Given the description of an element on the screen output the (x, y) to click on. 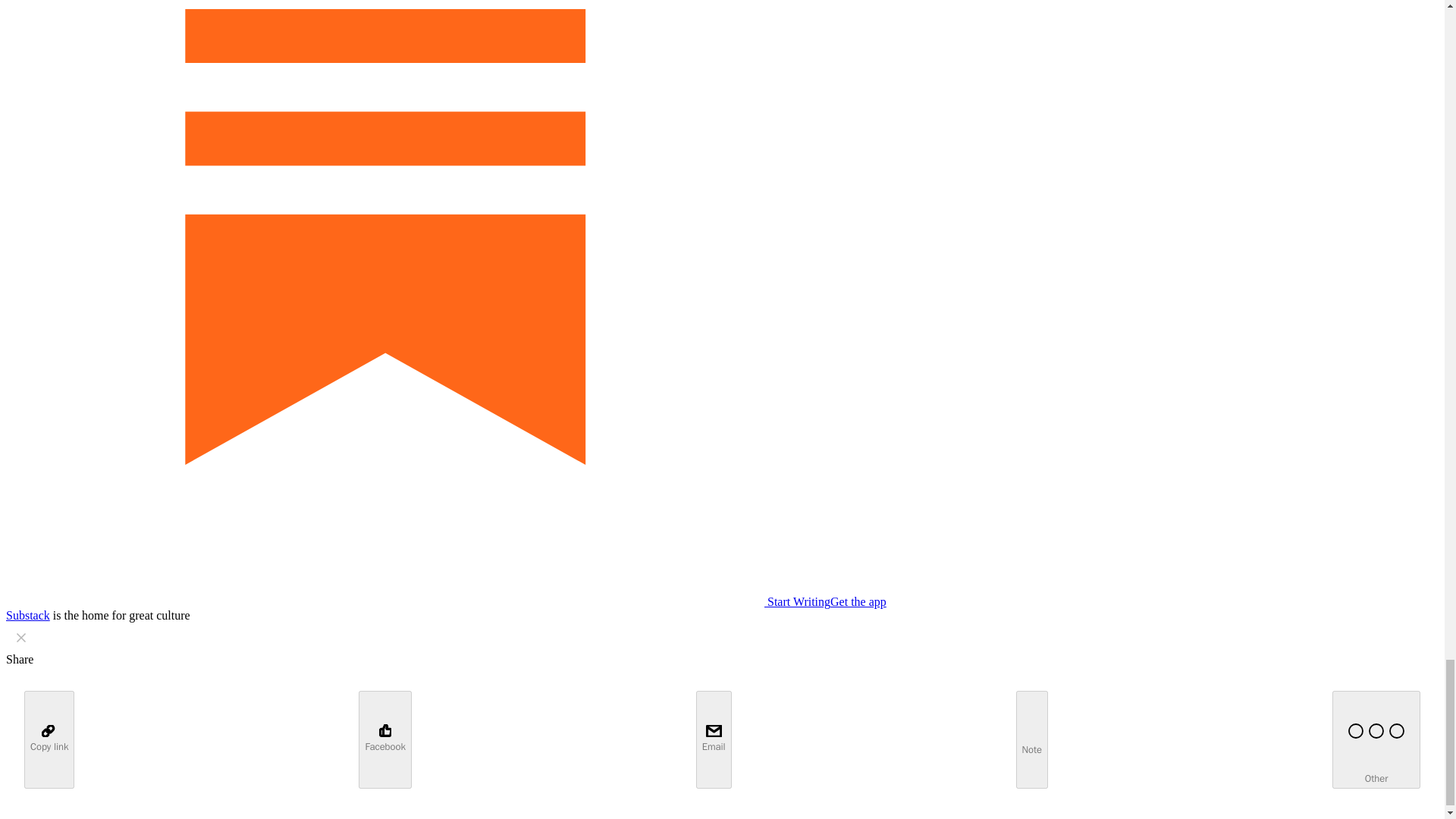
Start Writing (417, 601)
Get the app (857, 601)
Substack (27, 615)
